Given the description of an element on the screen output the (x, y) to click on. 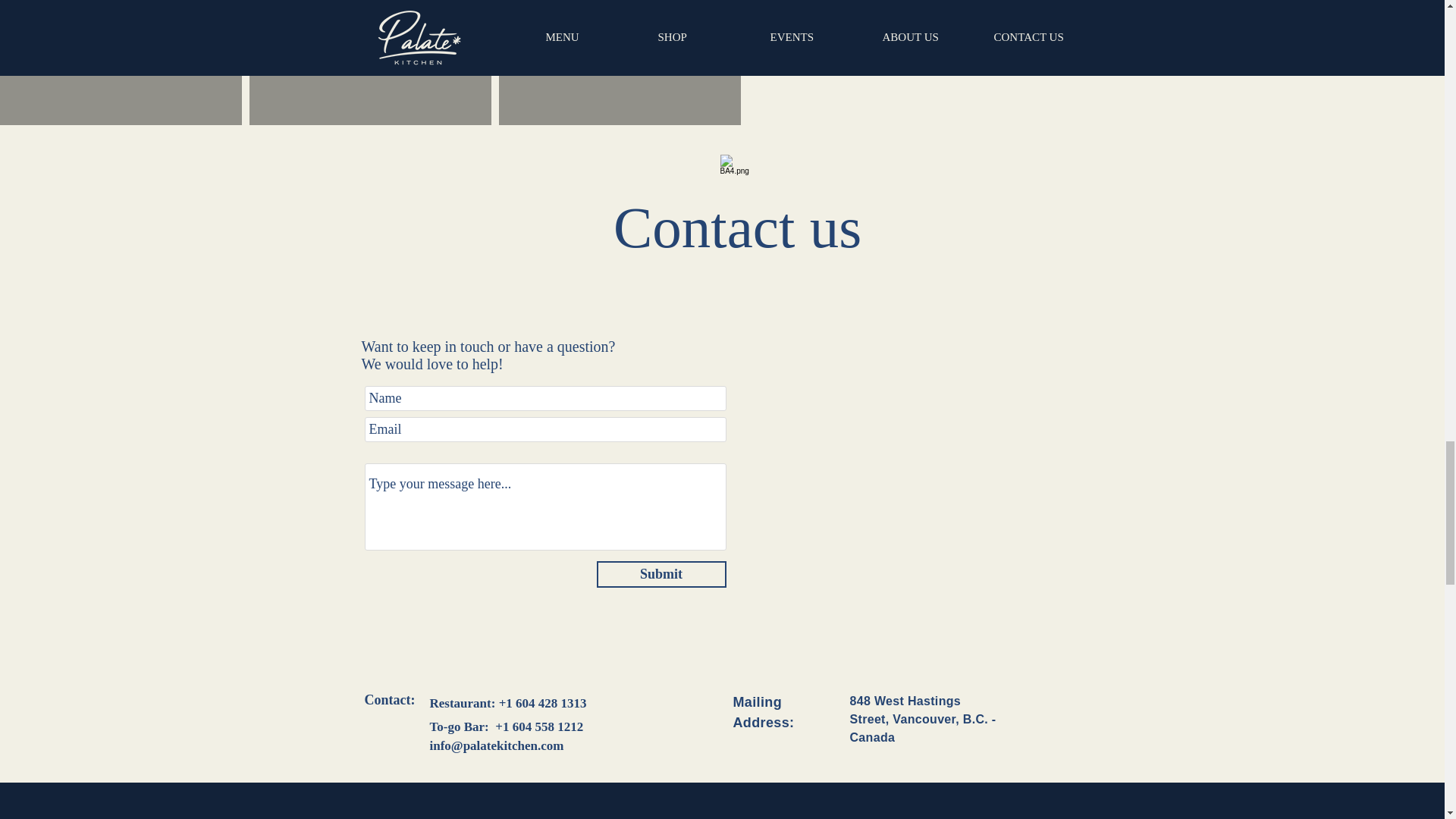
Submit (660, 574)
